Given the description of an element on the screen output the (x, y) to click on. 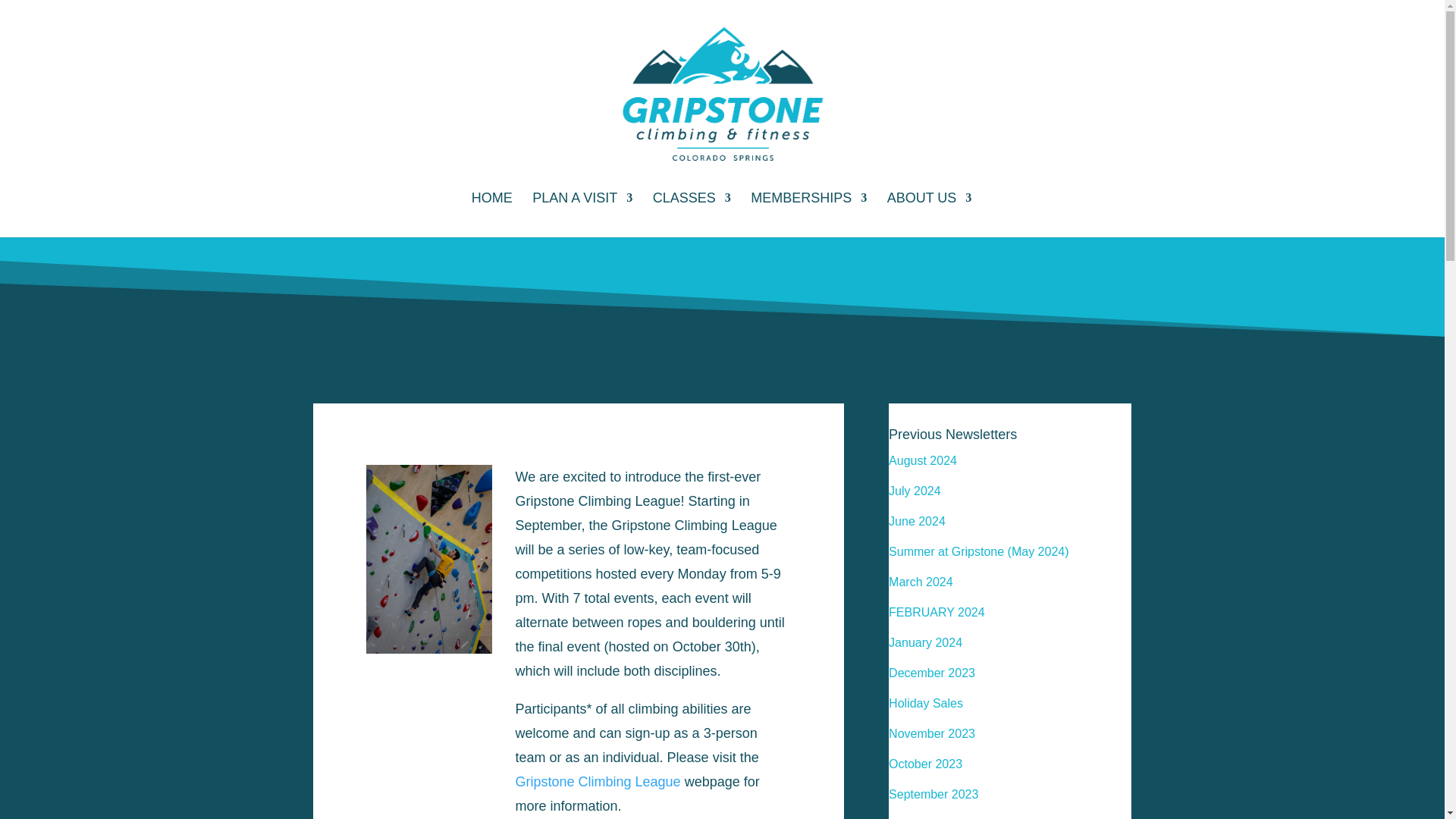
PLAN A VISIT (581, 214)
ABOUT US (929, 214)
CLASSES (691, 214)
HOME (491, 214)
MEMBERSHIPS (808, 214)
